Given the description of an element on the screen output the (x, y) to click on. 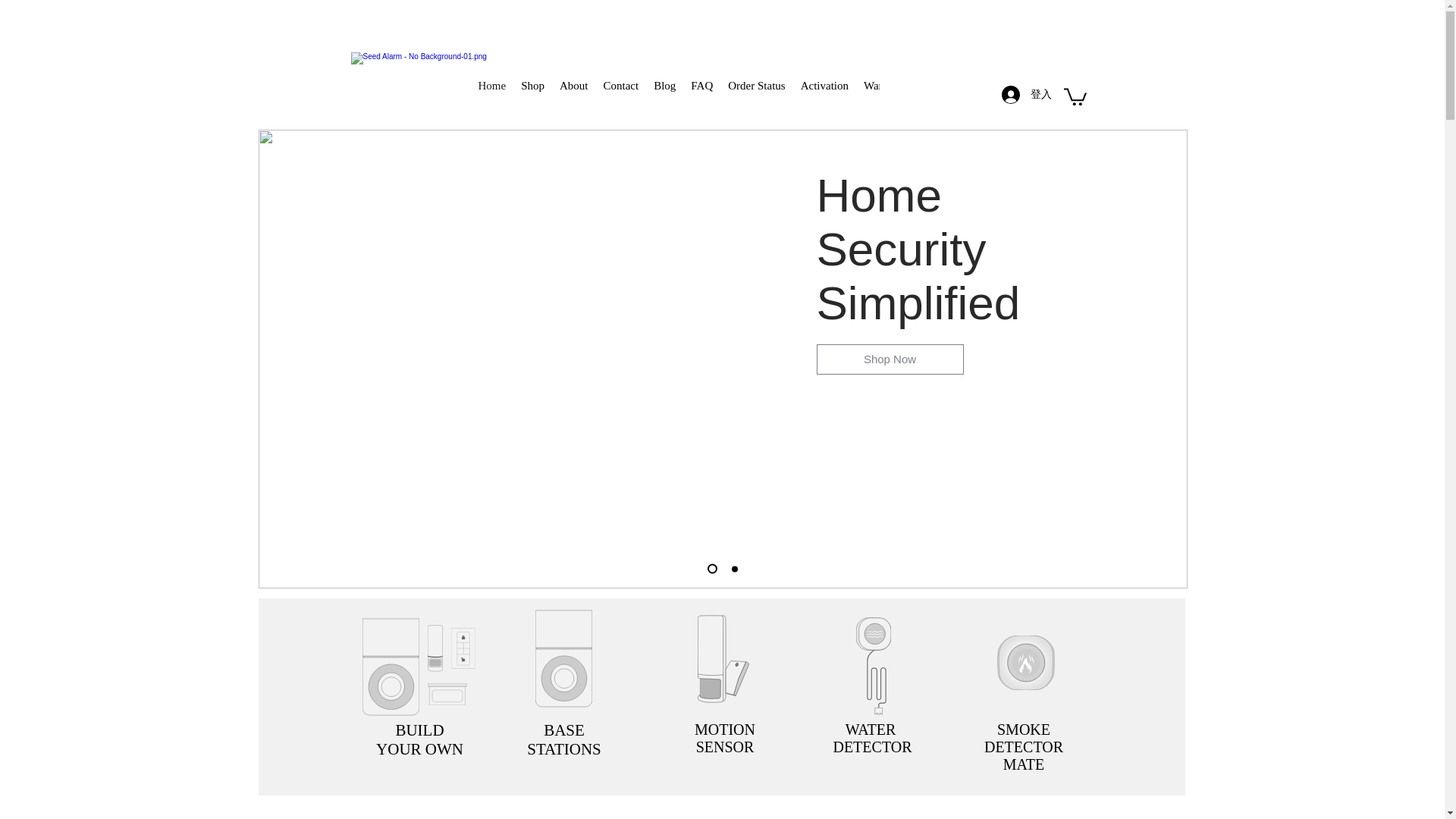
About (573, 92)
Blog (664, 92)
Activation (824, 92)
BASE STATIONS (564, 739)
DETECTOR (871, 746)
Home (491, 92)
BUILD YOUR OWN (419, 739)
Shop Now (888, 358)
SMOKE DETECTOR MATE (1023, 747)
Shop (532, 92)
